Given the description of an element on the screen output the (x, y) to click on. 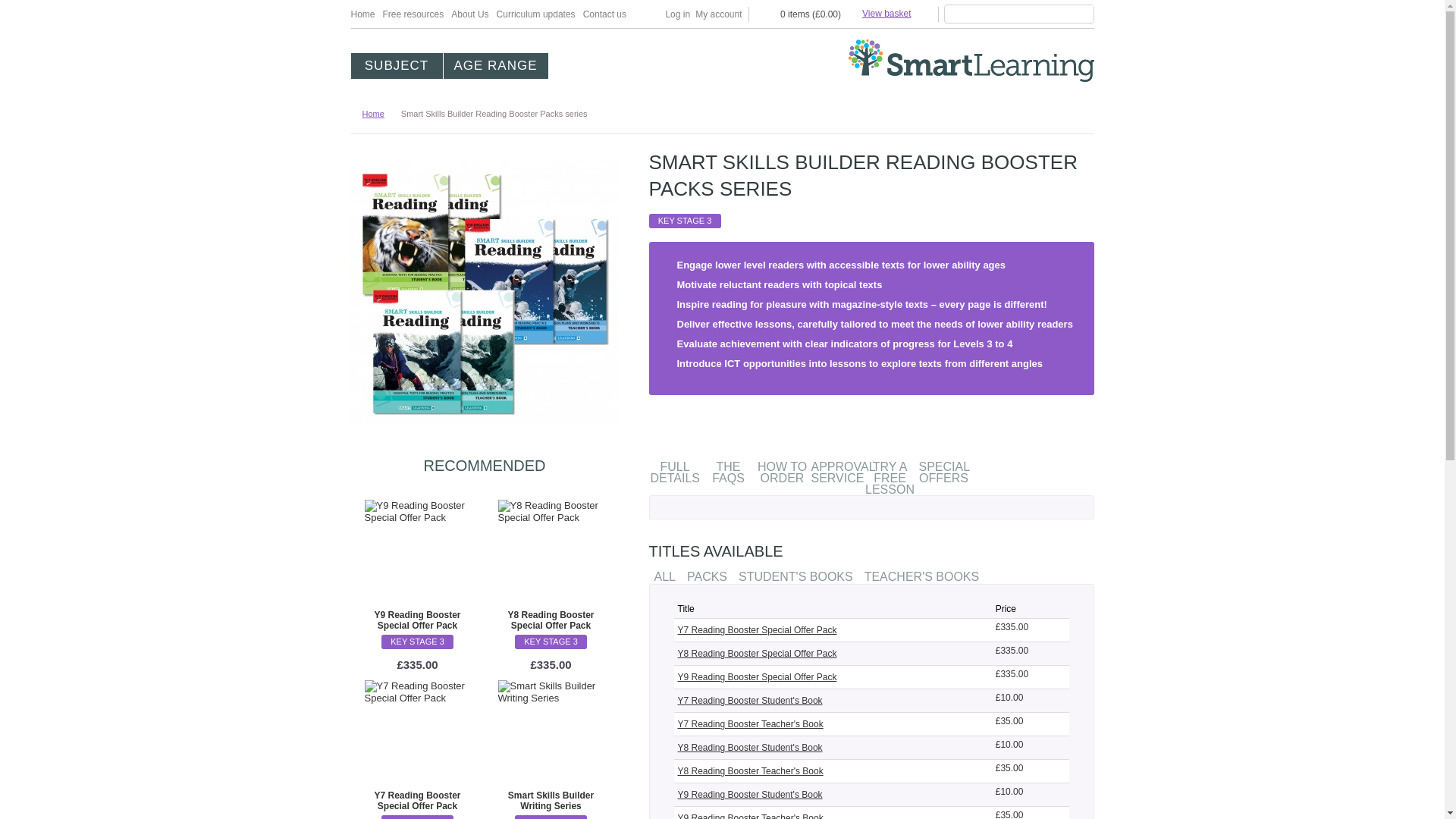
Curriculum updates (535, 14)
Log in (677, 14)
Y8 Reading Booster Special Offer Pack (550, 550)
Y7 Reading Booster Special Offer Pack (416, 801)
About Us (469, 14)
Smart Learning (970, 60)
About Us (469, 14)
Contact us (604, 14)
My account (718, 14)
Y9 Reading Booster Special Offer Pack (416, 550)
